Given the description of an element on the screen output the (x, y) to click on. 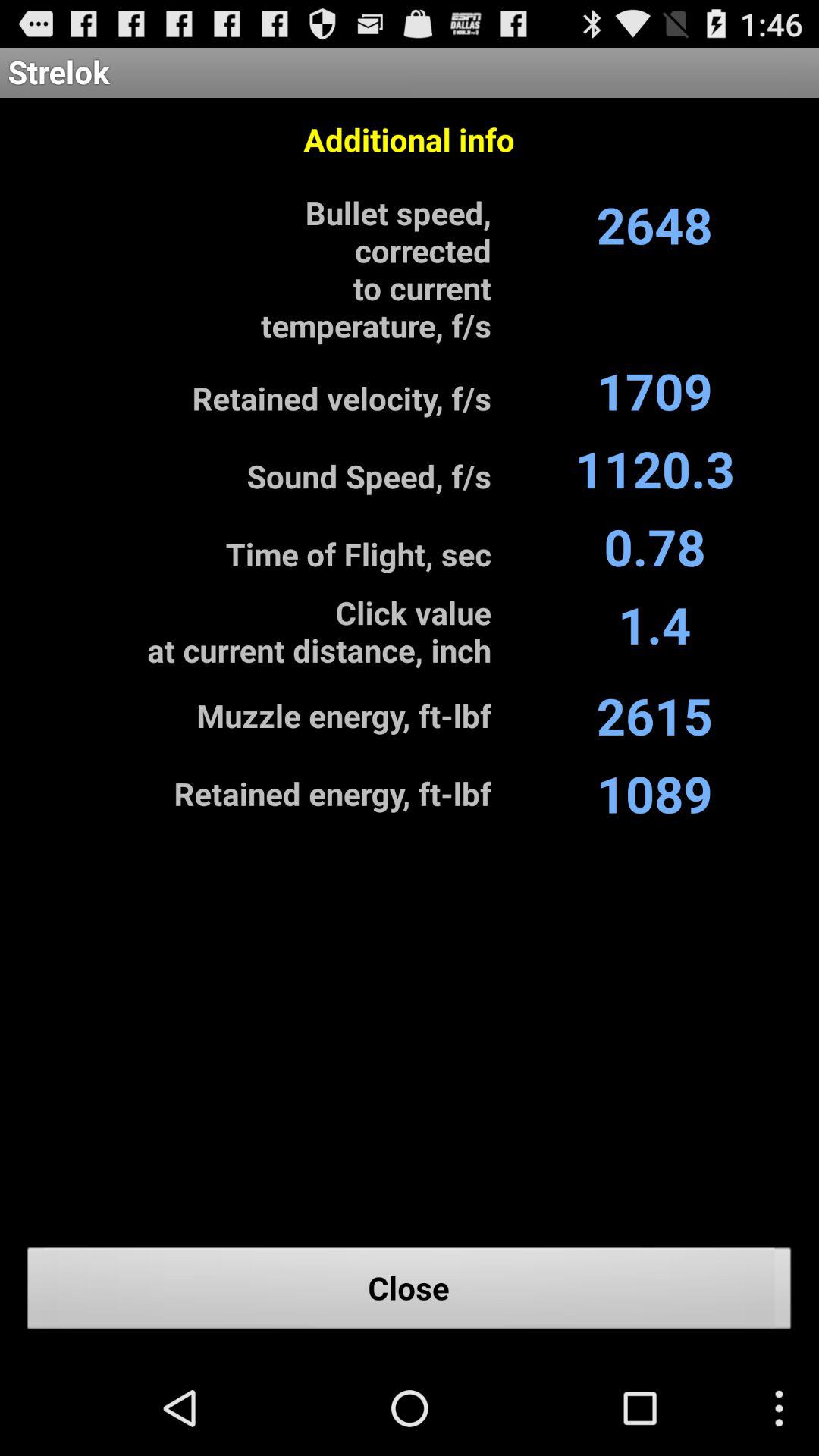
turn off the item below the 1089 item (409, 1292)
